Given the description of an element on the screen output the (x, y) to click on. 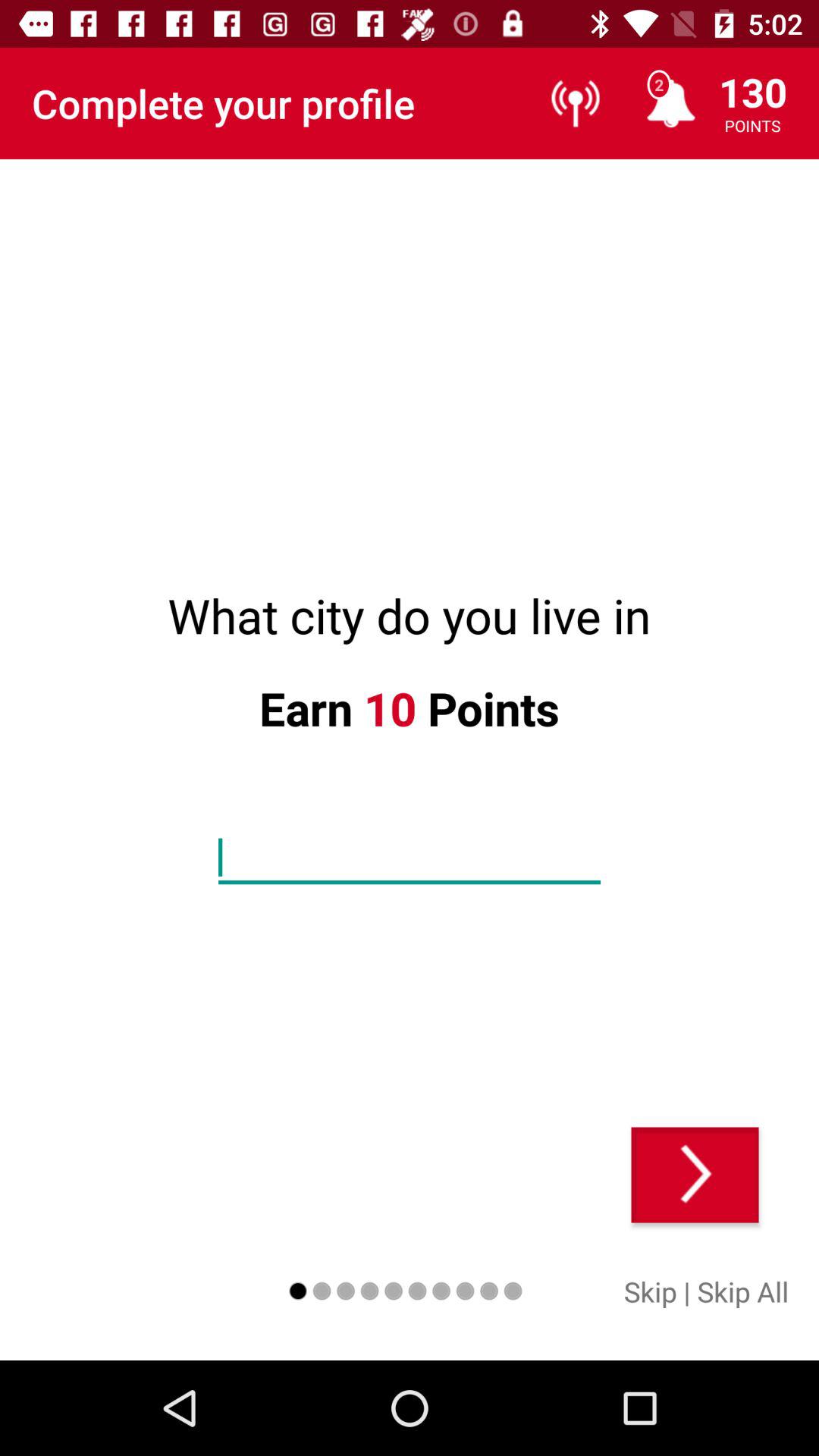
launch the icon below earn  item (409, 858)
